Given the description of an element on the screen output the (x, y) to click on. 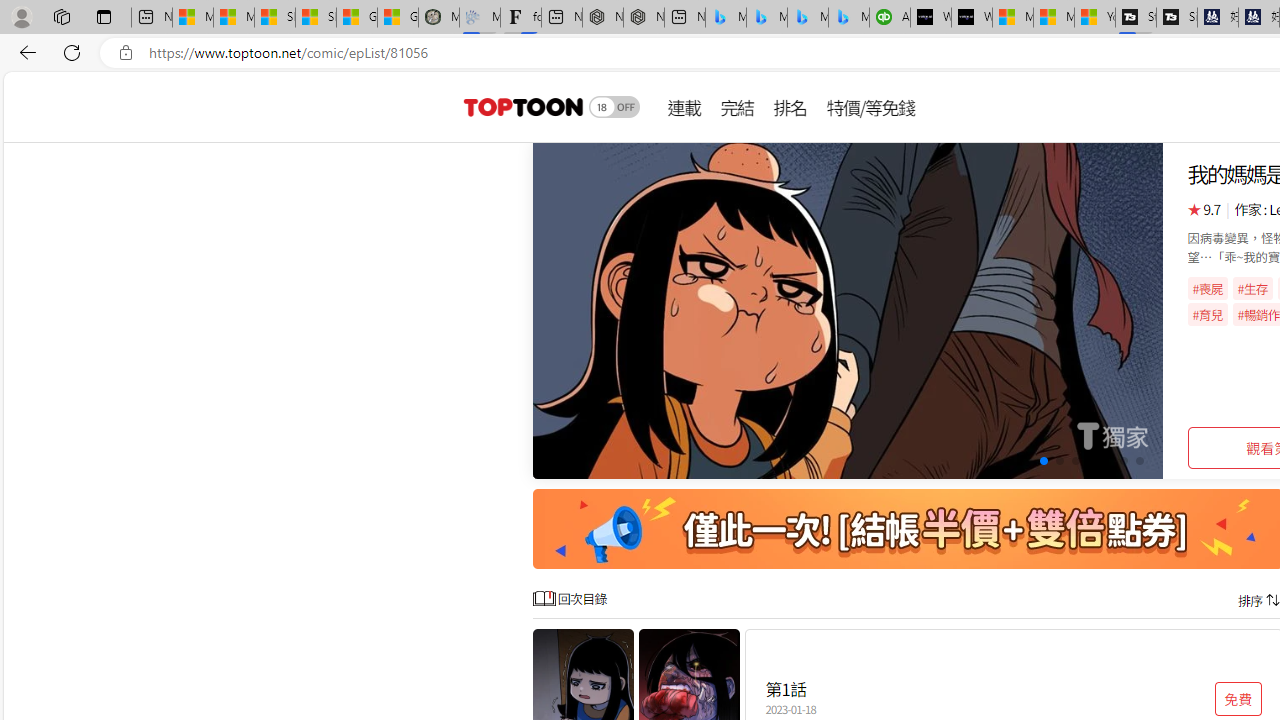
Go to slide 6 (1075, 461)
Class: swiper-slide swiper-slide-next (847, 310)
Nordace - #1 Japanese Best-Seller - Siena Smart Backpack (643, 17)
Microsoft Start Sports (1012, 17)
Accounting Software for Accountants, CPAs and Bookkeepers (890, 17)
Shanghai, China weather forecast | Microsoft Weather (315, 17)
Refresh (72, 52)
Class: swiper-slide swiper-slide-duplicate (847, 310)
Go to slide 1 (994, 461)
Go to slide 10 (1139, 461)
